Given the description of an element on the screen output the (x, y) to click on. 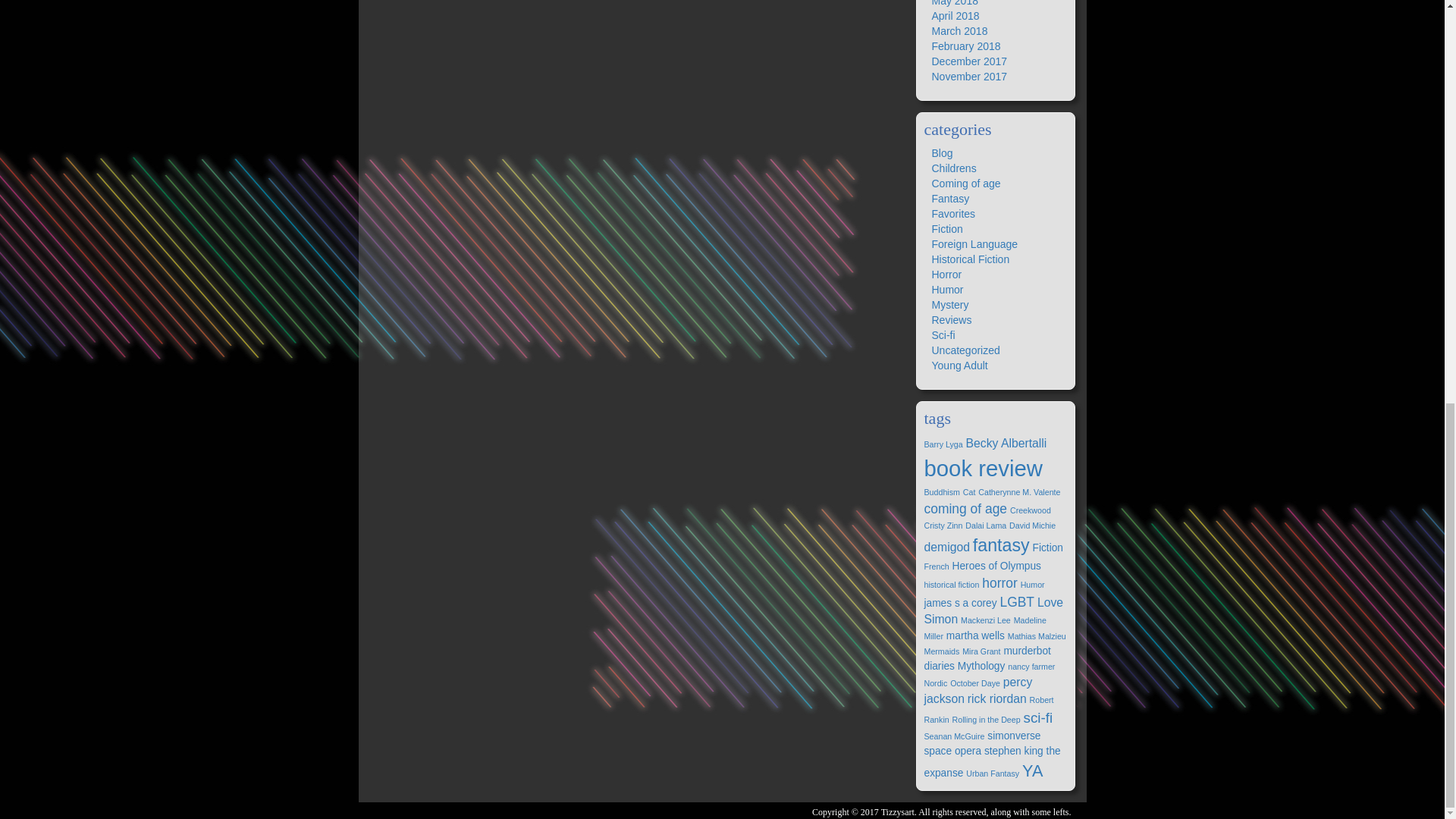
February 2018 (965, 46)
May 2018 (953, 3)
March 2018 (959, 30)
April 2018 (954, 15)
